Given the description of an element on the screen output the (x, y) to click on. 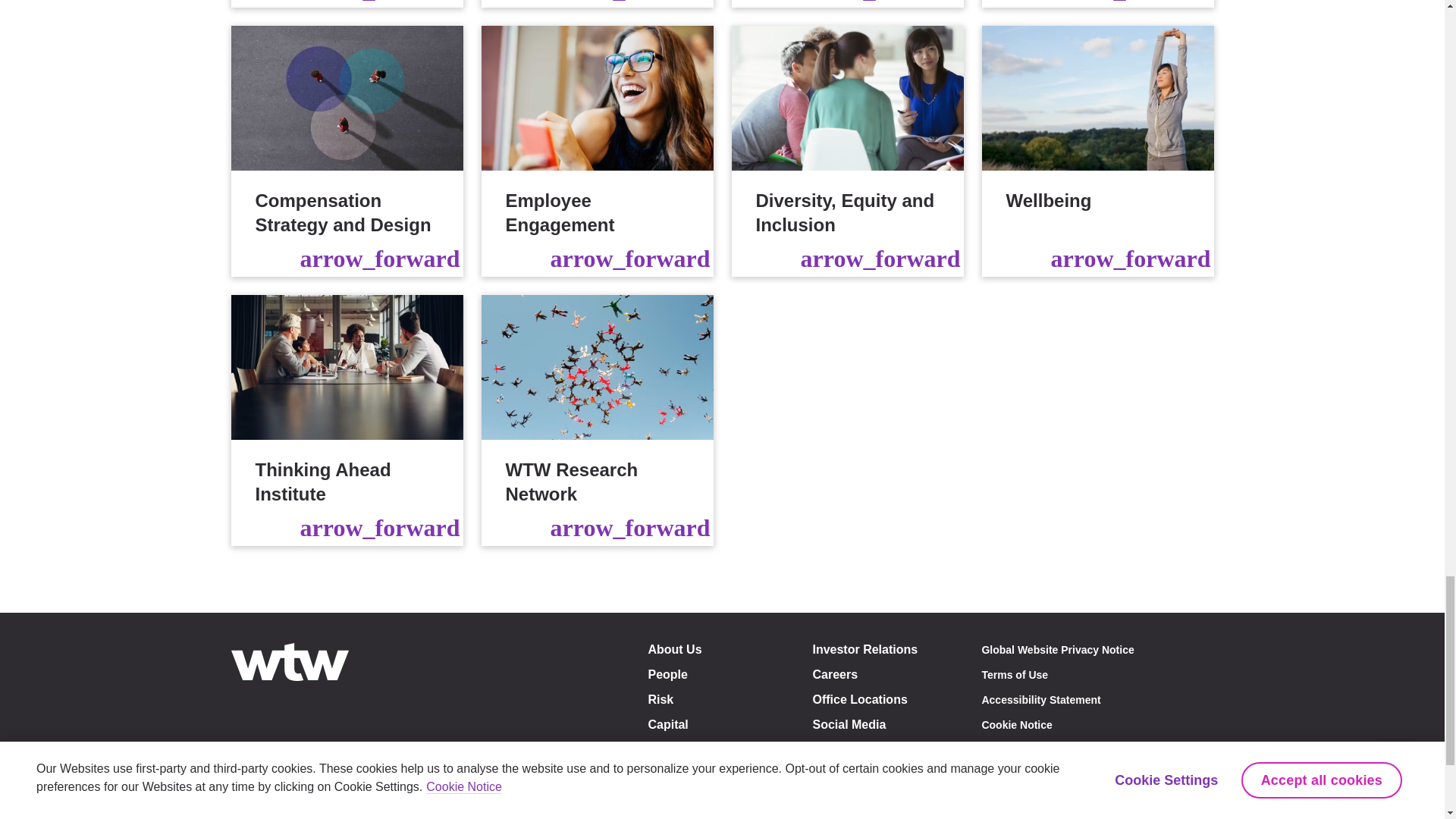
Compensation Strategy and Design (346, 150)
Diversity, Equity and Inclusion (846, 150)
Employee Engagement (596, 150)
Thinking Ahead Institute (346, 420)
ESG and Sustainability (346, 3)
Wellbeing (1096, 150)
Environmental Risks (846, 3)
Climate Risk (596, 3)
